Given the description of an element on the screen output the (x, y) to click on. 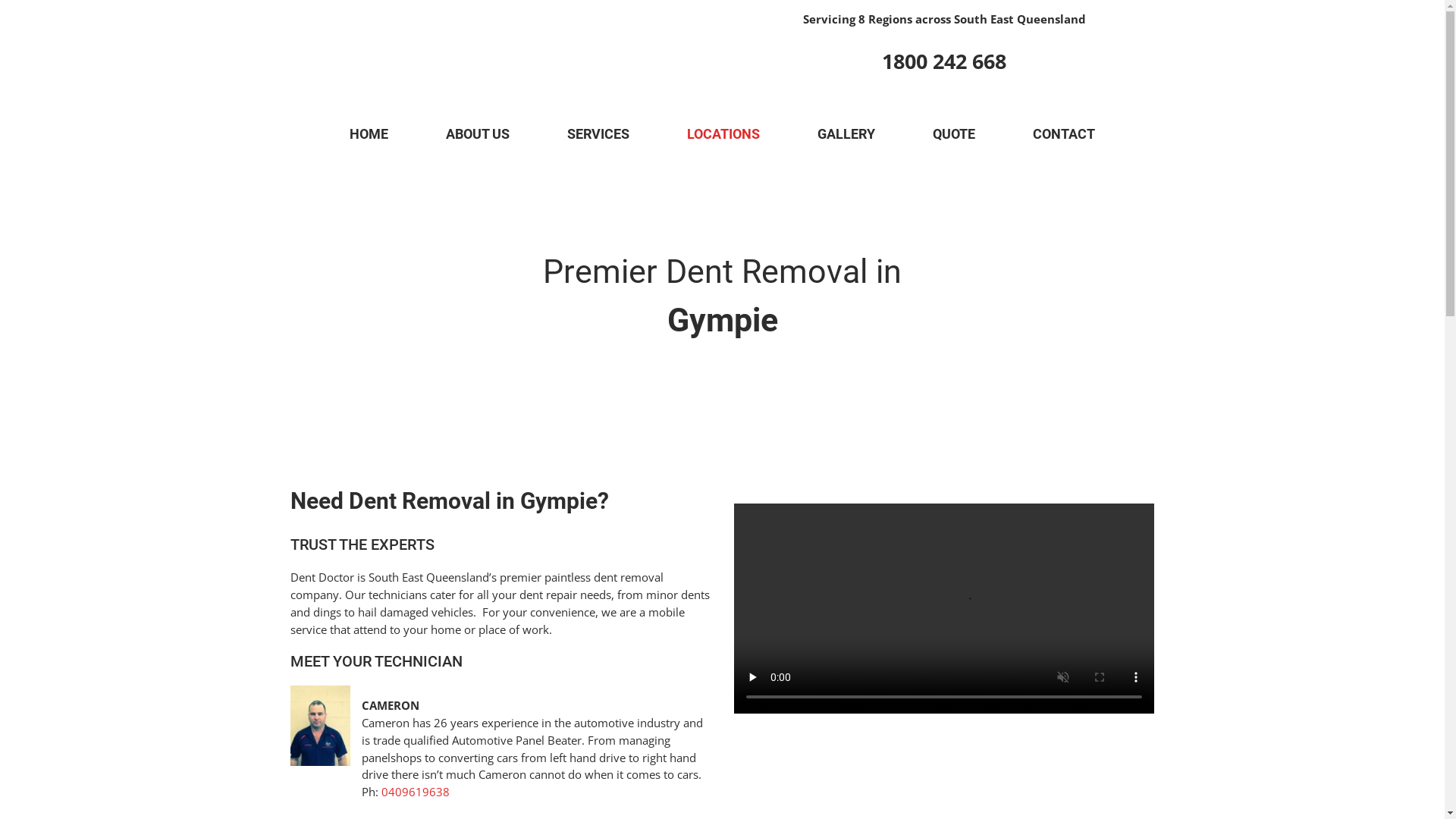
Dent Doctor Element type: hover (530, 40)
0409619638 Element type: text (415, 791)
CONTACT Element type: text (1063, 133)
ABOUT US Element type: text (477, 133)
SERVICES Element type: text (598, 133)
QUOTE Element type: text (953, 133)
GALLERY Element type: text (846, 133)
1800 242 668 Element type: text (943, 61)
HOME Element type: text (368, 133)
LOCATIONS Element type: text (723, 133)
